Given the description of an element on the screen output the (x, y) to click on. 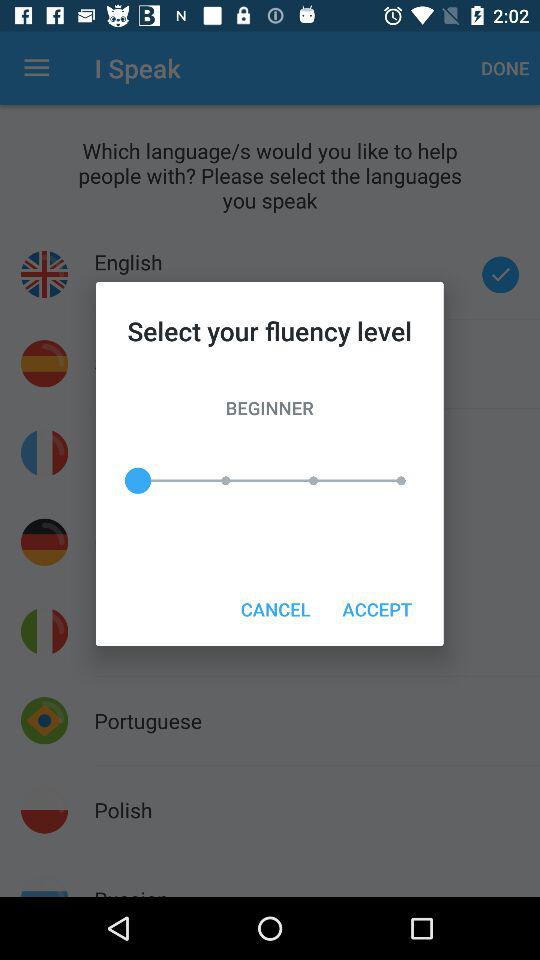
jump until accept (376, 608)
